Given the description of an element on the screen output the (x, y) to click on. 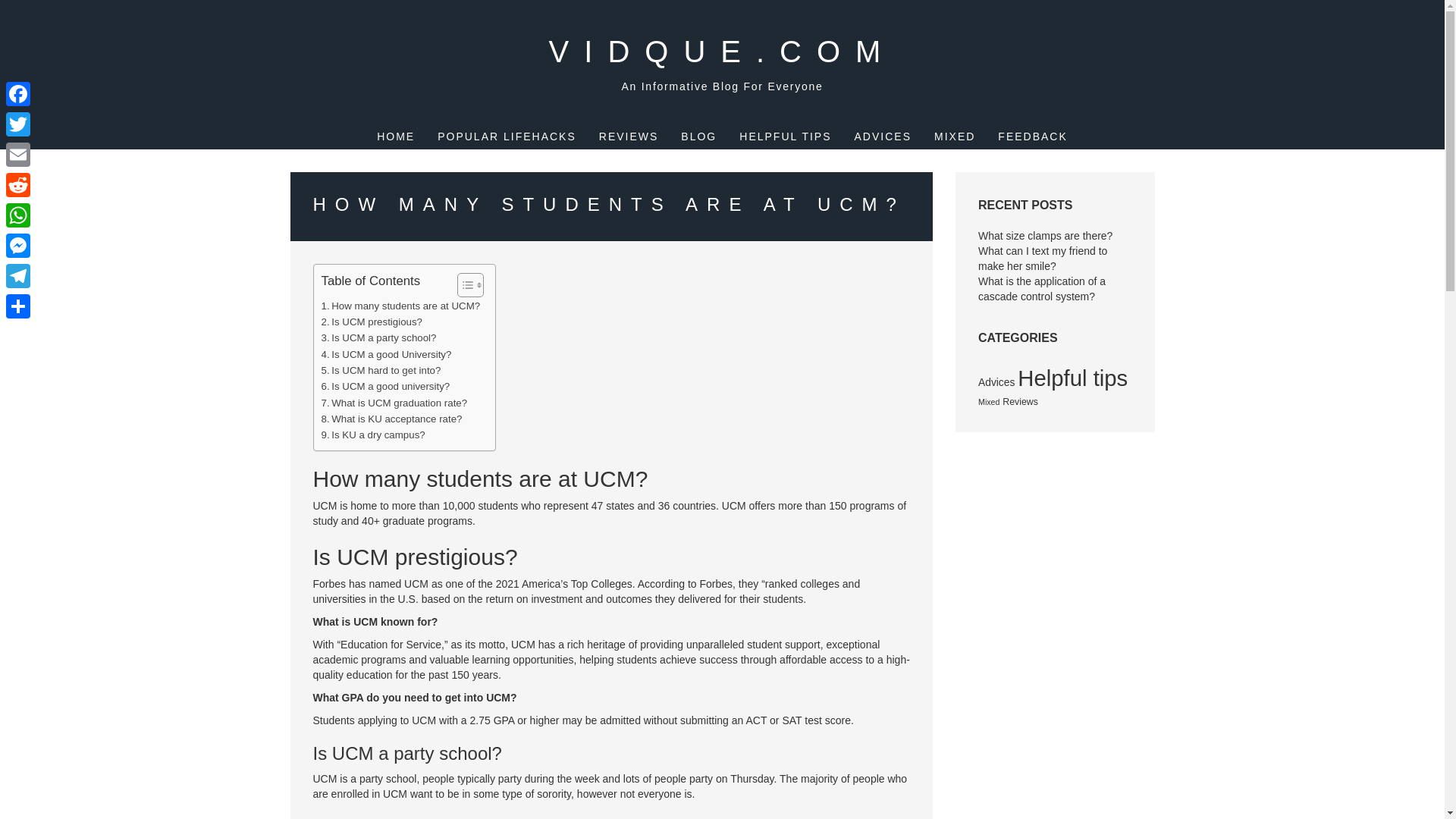
How many students are at UCM? (400, 305)
Facebook (17, 93)
Is UCM a party school? (378, 337)
Is KU a dry campus? (373, 434)
Is UCM a good university? (385, 385)
How many students are at UCM? (400, 305)
What size clamps are there? (1045, 235)
Is UCM a good University? (386, 354)
Twitter (17, 123)
FEEDBACK (1032, 136)
REVIEWS (628, 136)
What is KU acceptance rate? (392, 418)
HOME (395, 136)
Is UCM prestigious? (371, 321)
Is UCM hard to get into? (381, 370)
